Given the description of an element on the screen output the (x, y) to click on. 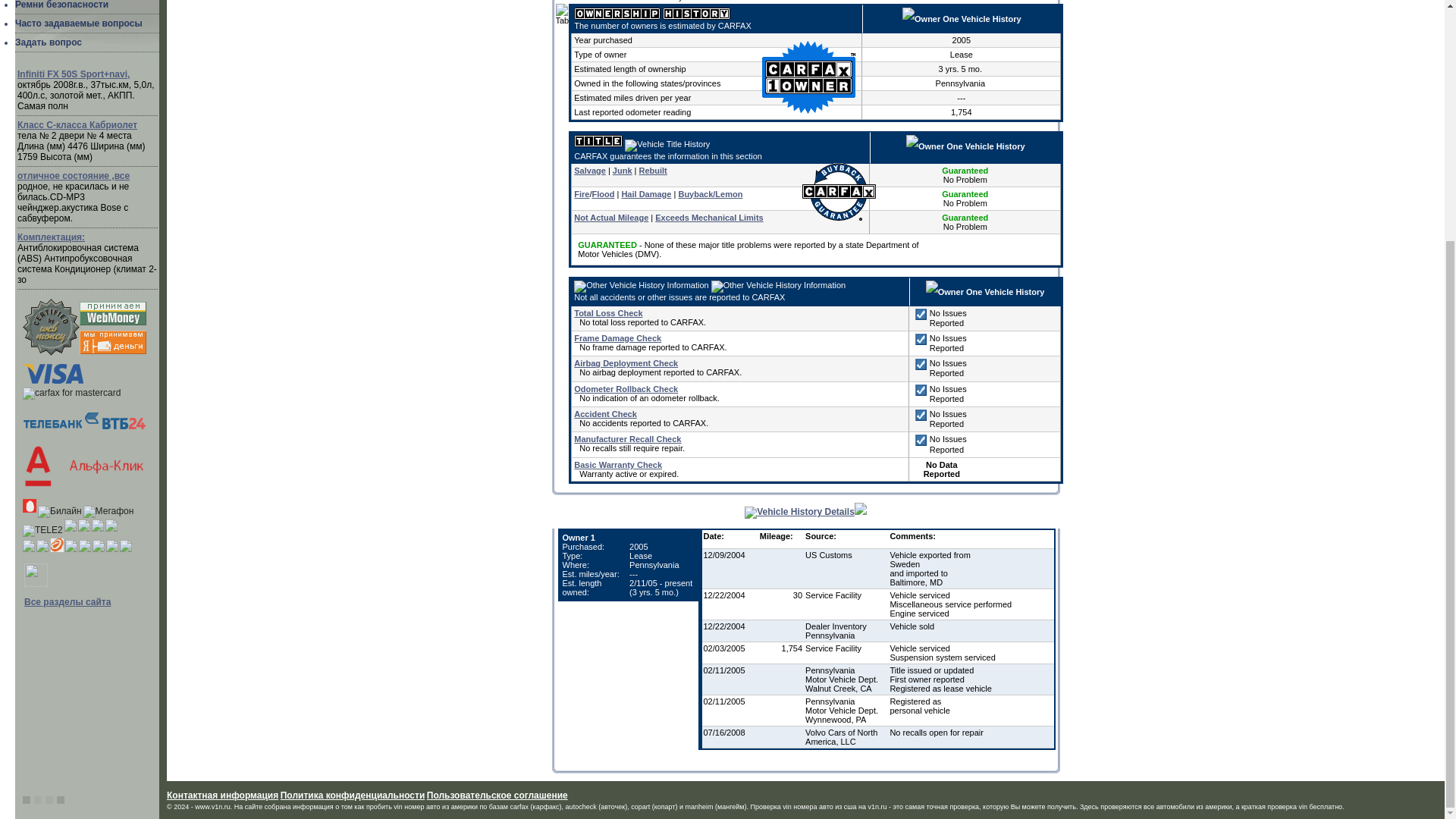
LiveInternet (36, 575)
Flood (602, 193)
Junk (621, 170)
Salvage (589, 170)
Hail Damage (646, 193)
Exceeds Mechanical Limits (708, 216)
Not Actual Mileage (610, 216)
Total Loss Check (607, 312)
Fire (581, 193)
Rebuilt (652, 170)
